Given the description of an element on the screen output the (x, y) to click on. 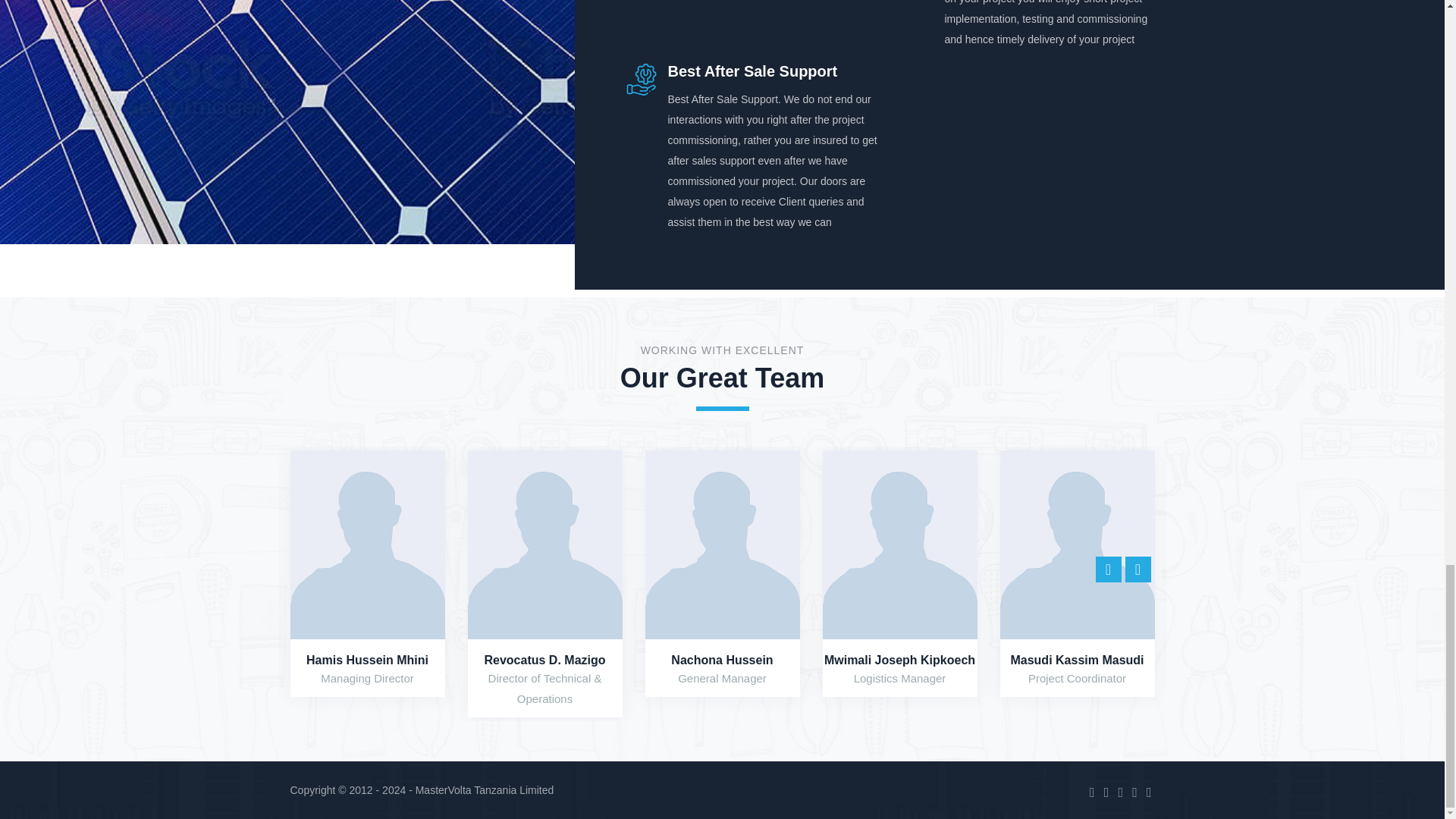
Masudi Kassim Masudi (1076, 659)
Nachona Hussein (722, 659)
Hamis Hussein Mhini (366, 659)
Mwimali Joseph Kipkoech (899, 659)
Revocatus D. Mazigo (544, 659)
